Given the description of an element on the screen output the (x, y) to click on. 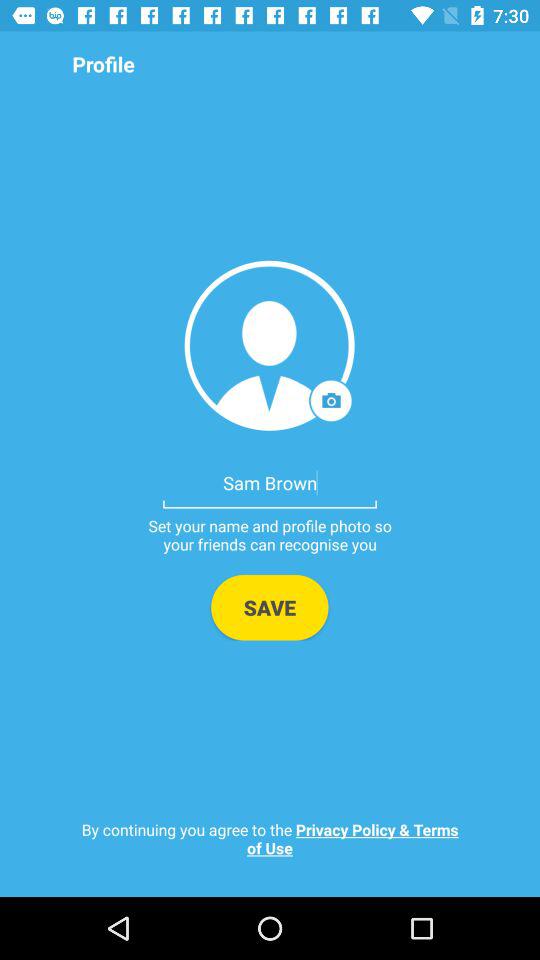
press the item above the sam brown (269, 345)
